Given the description of an element on the screen output the (x, y) to click on. 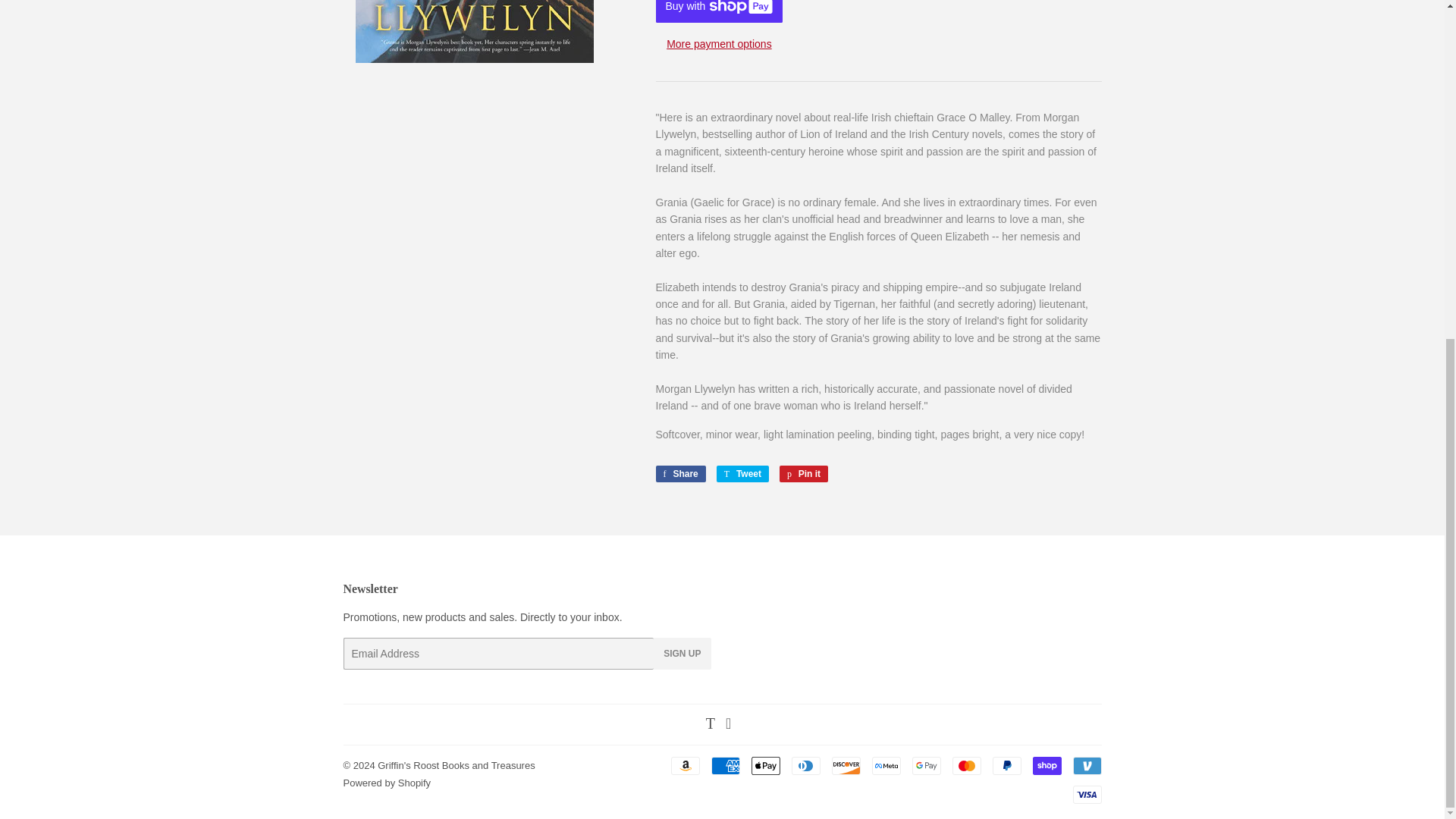
Visa (1085, 794)
Discover (845, 765)
Shop Pay (1046, 765)
Amazon (803, 474)
Tweet on Twitter (683, 765)
More payment options (742, 474)
Share on Facebook (719, 44)
Griffin's Roost Books and Treasures (679, 474)
Google Pay (455, 765)
